Given the description of an element on the screen output the (x, y) to click on. 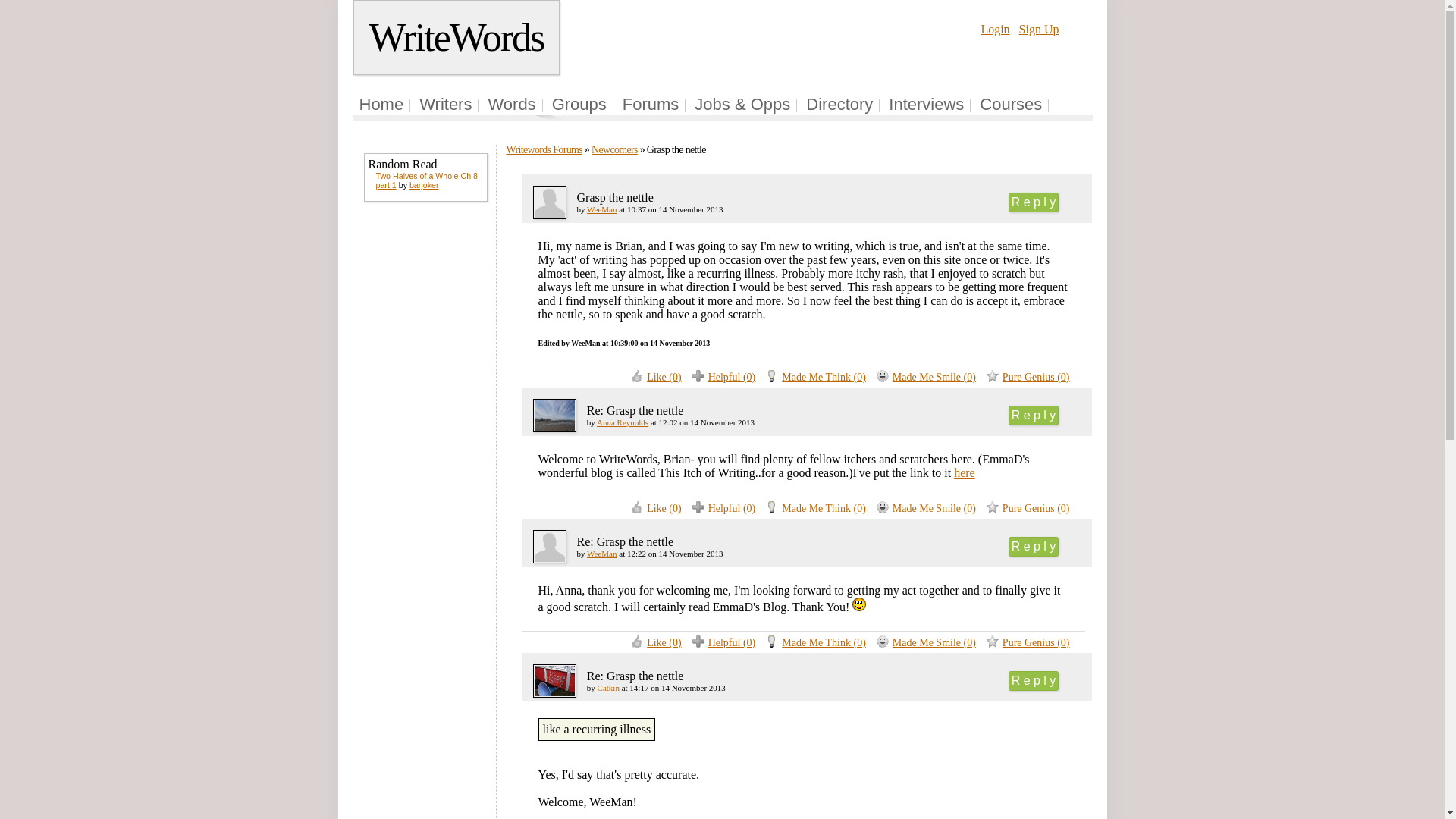
Anna Reynolds (621, 421)
Groups (579, 104)
Sign Up (1039, 29)
R e p l y (1034, 680)
Forums (651, 104)
Words (511, 104)
Courses (1010, 104)
here (964, 472)
R e p l y (1034, 415)
Writers (445, 104)
